Given the description of an element on the screen output the (x, y) to click on. 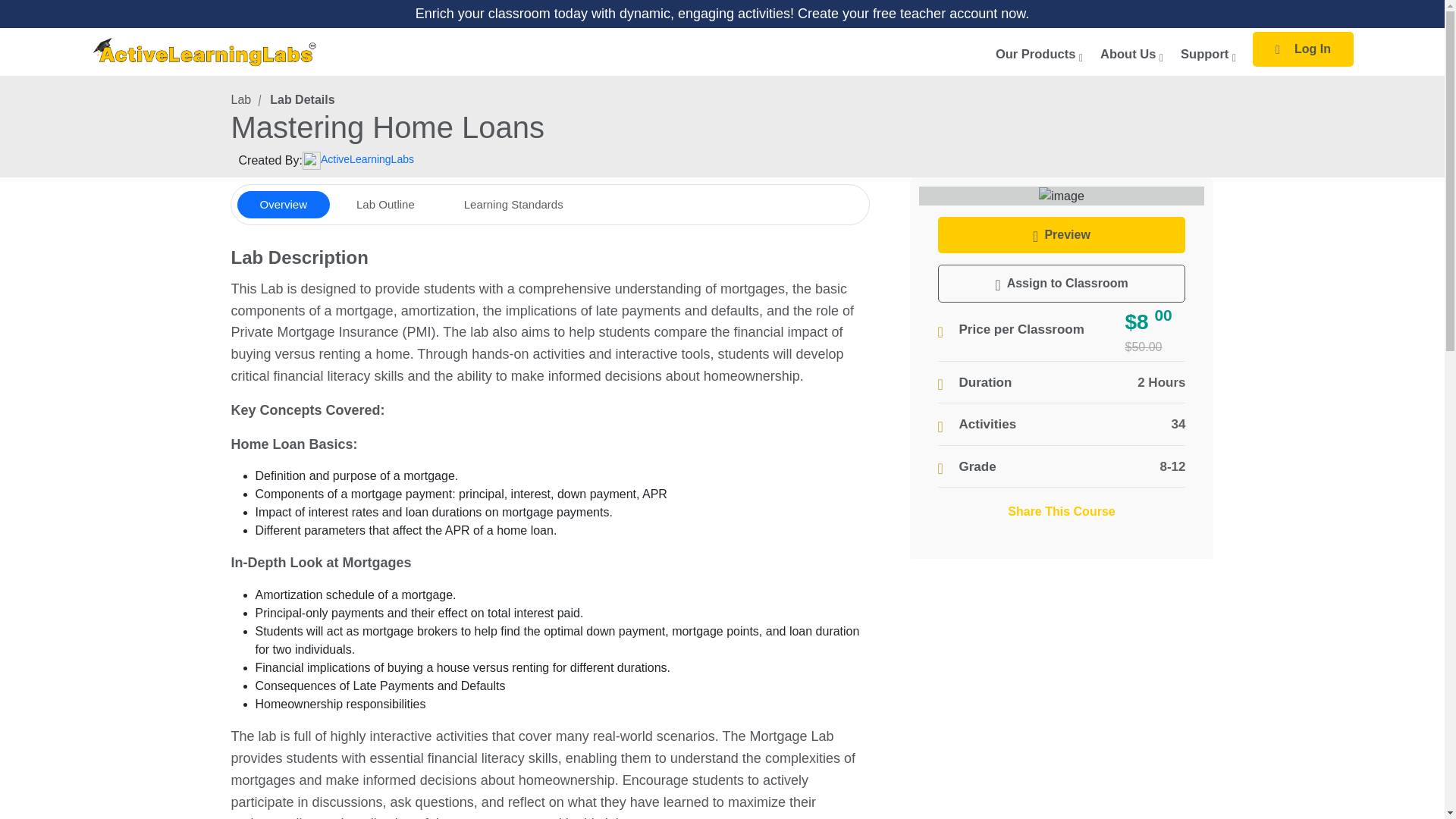
About Us (1130, 53)
Support (1206, 53)
Our Products (1037, 53)
